Given the description of an element on the screen output the (x, y) to click on. 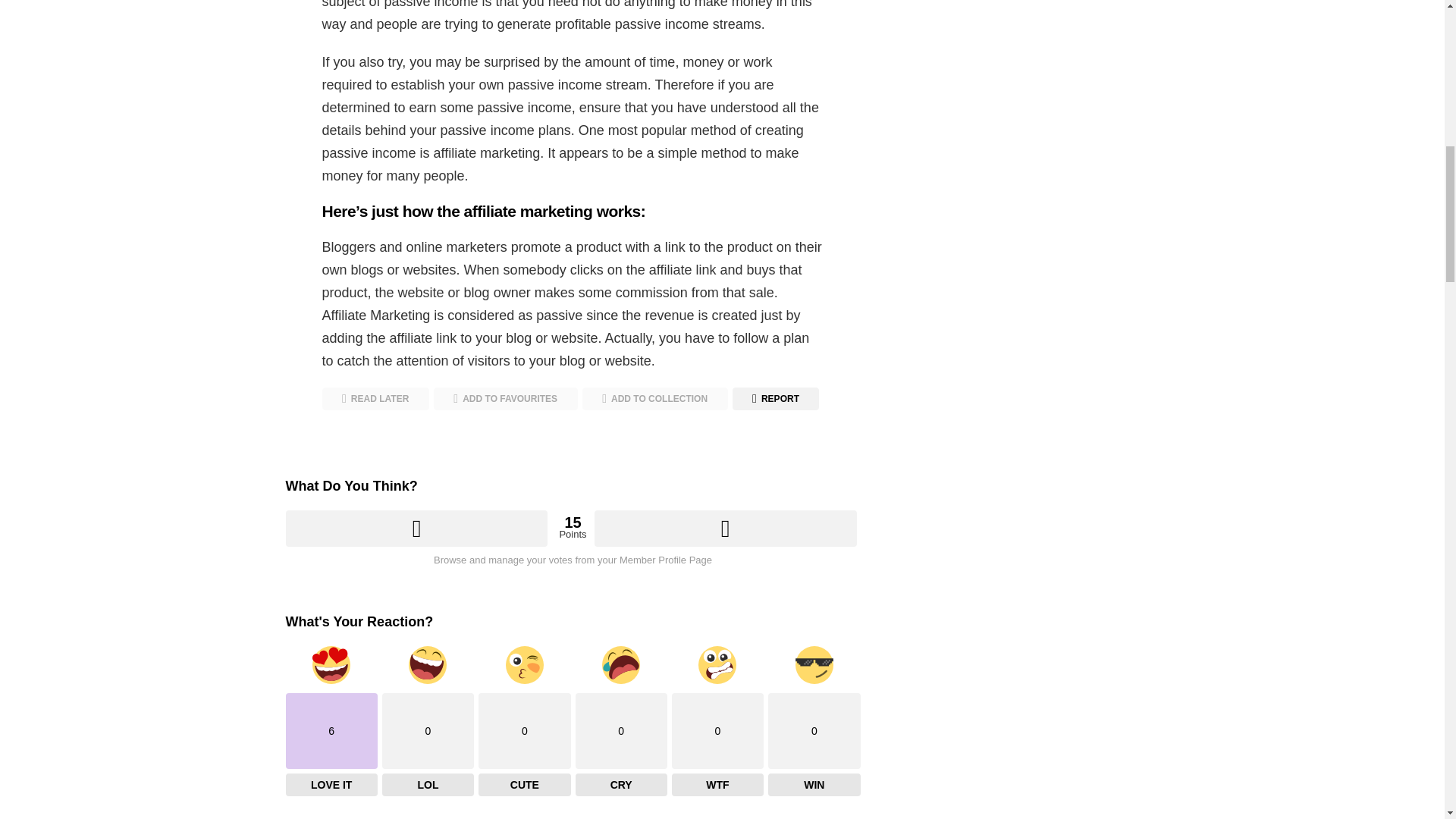
ADD TO COLLECTION (655, 399)
Downvote (725, 528)
ADD TO FAVOURITES (505, 399)
READ LATER (374, 399)
Upvote (416, 528)
REPORT (775, 399)
Downvote (725, 528)
Upvote (416, 528)
